Given the description of an element on the screen output the (x, y) to click on. 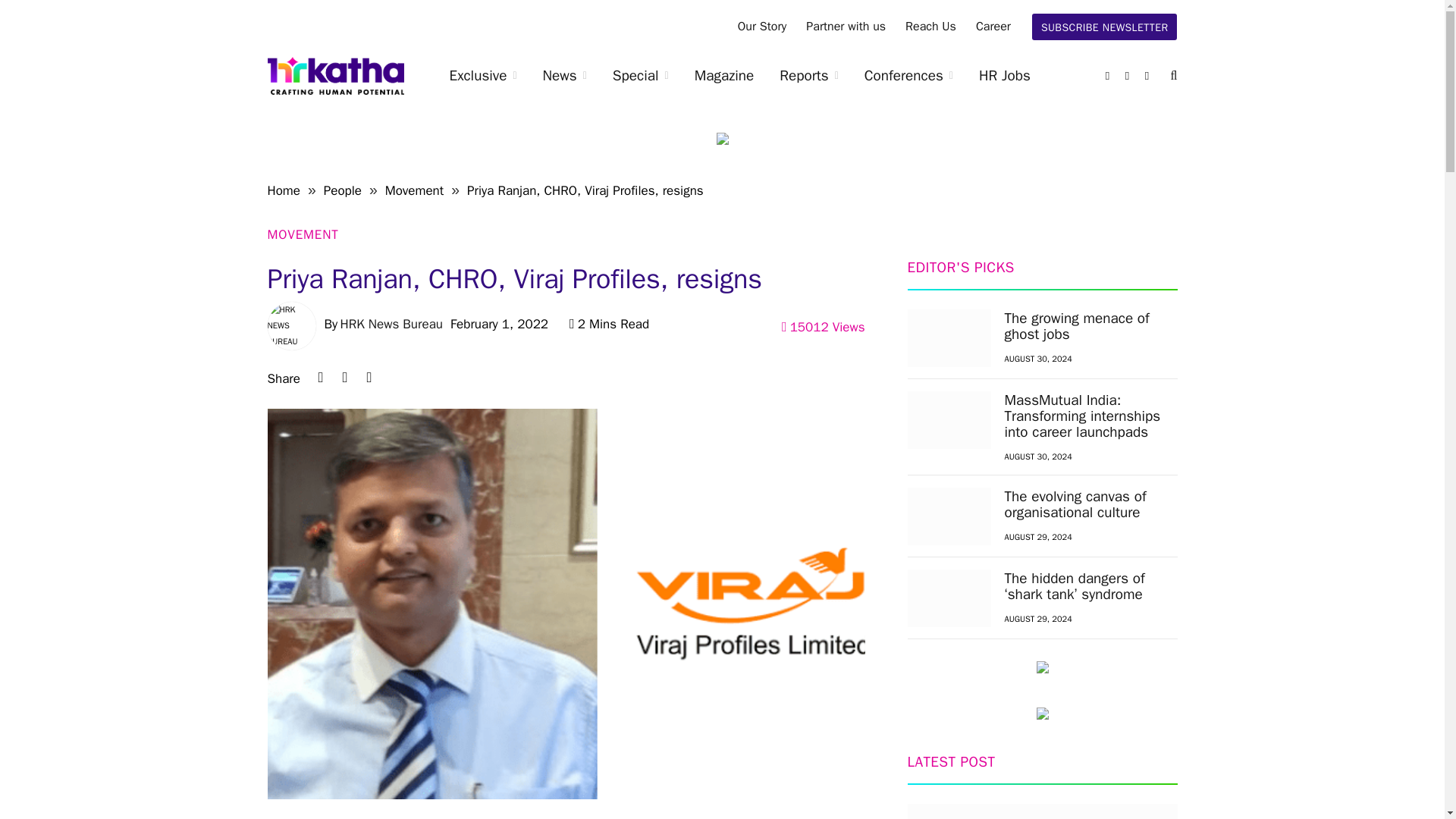
Reach Us (930, 26)
Exclusive (482, 75)
Partner with us (845, 26)
News (564, 75)
Career (993, 26)
Share on LinkedIn (319, 377)
Special (640, 75)
SUBSCRIBE NEWSLETTER (1104, 26)
Posts by HRK News Bureau (390, 324)
HR Katha (334, 76)
